Given the description of an element on the screen output the (x, y) to click on. 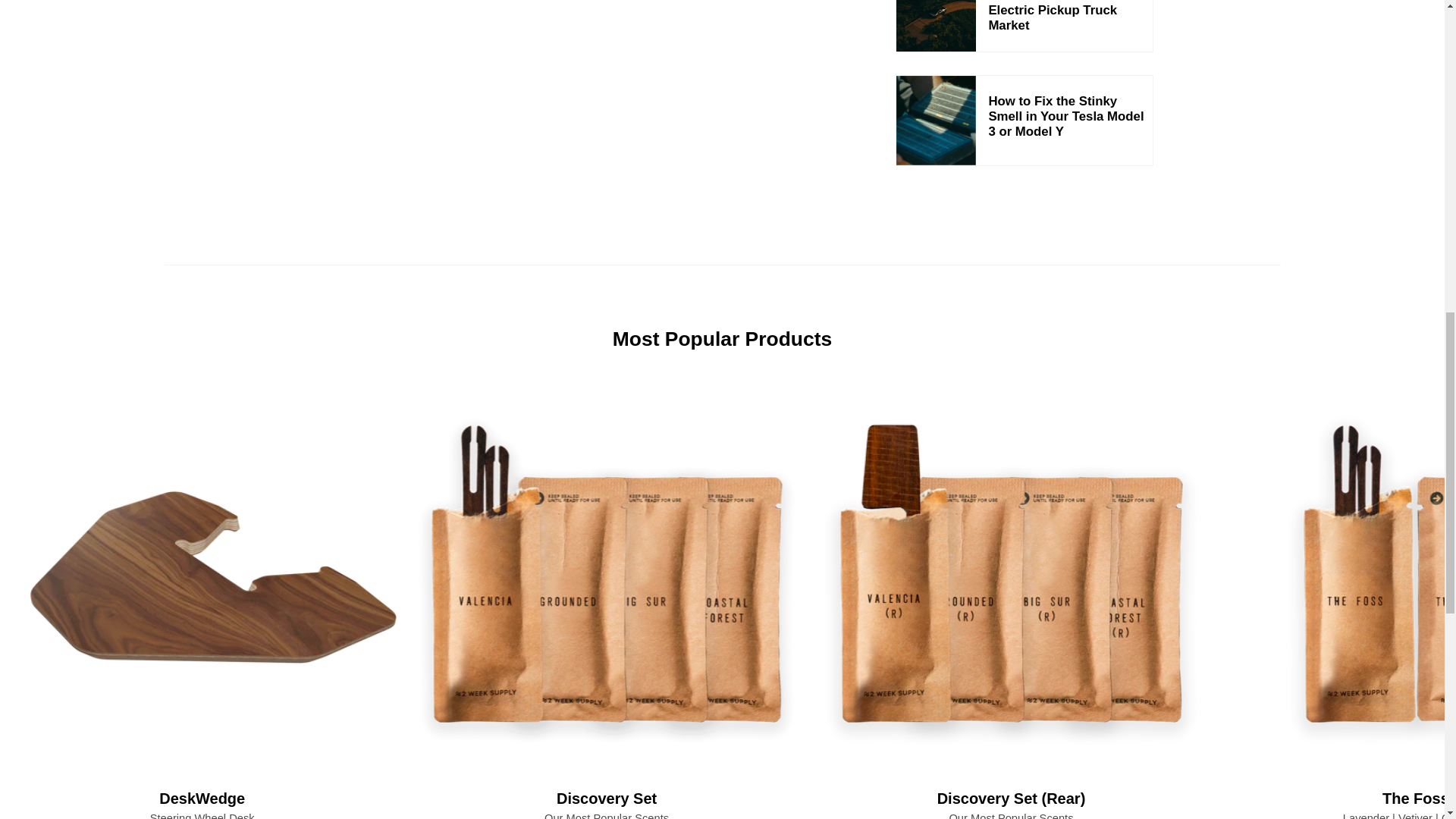
YouTube video player (573, 75)
